Given the description of an element on the screen output the (x, y) to click on. 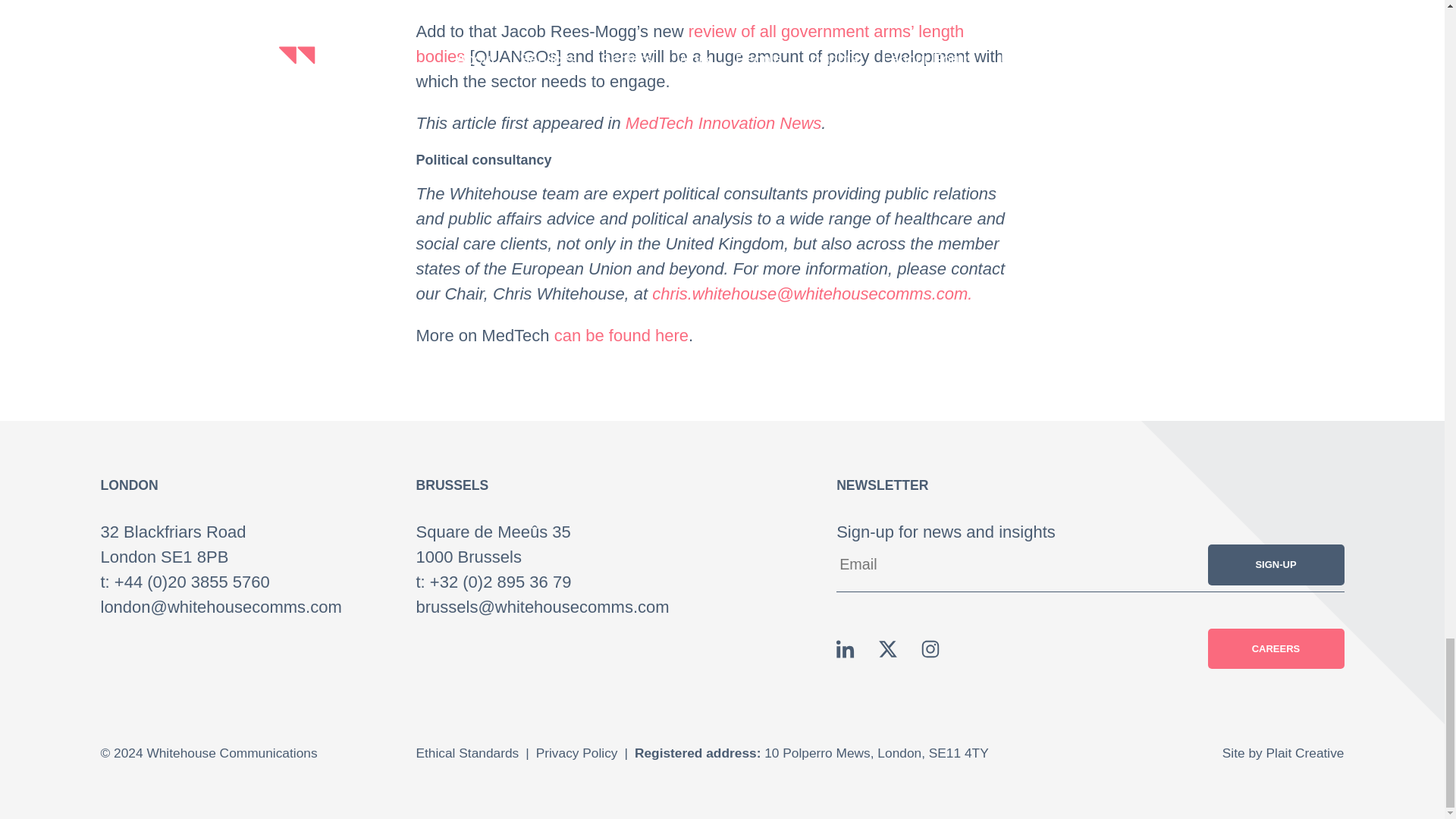
CAREERS (1275, 648)
Sign-up (1275, 564)
Privacy Policy (576, 752)
Ethical Standards (467, 752)
Sign-up (1275, 564)
MedTech Innovation News (723, 122)
can be found here (621, 334)
